Given the description of an element on the screen output the (x, y) to click on. 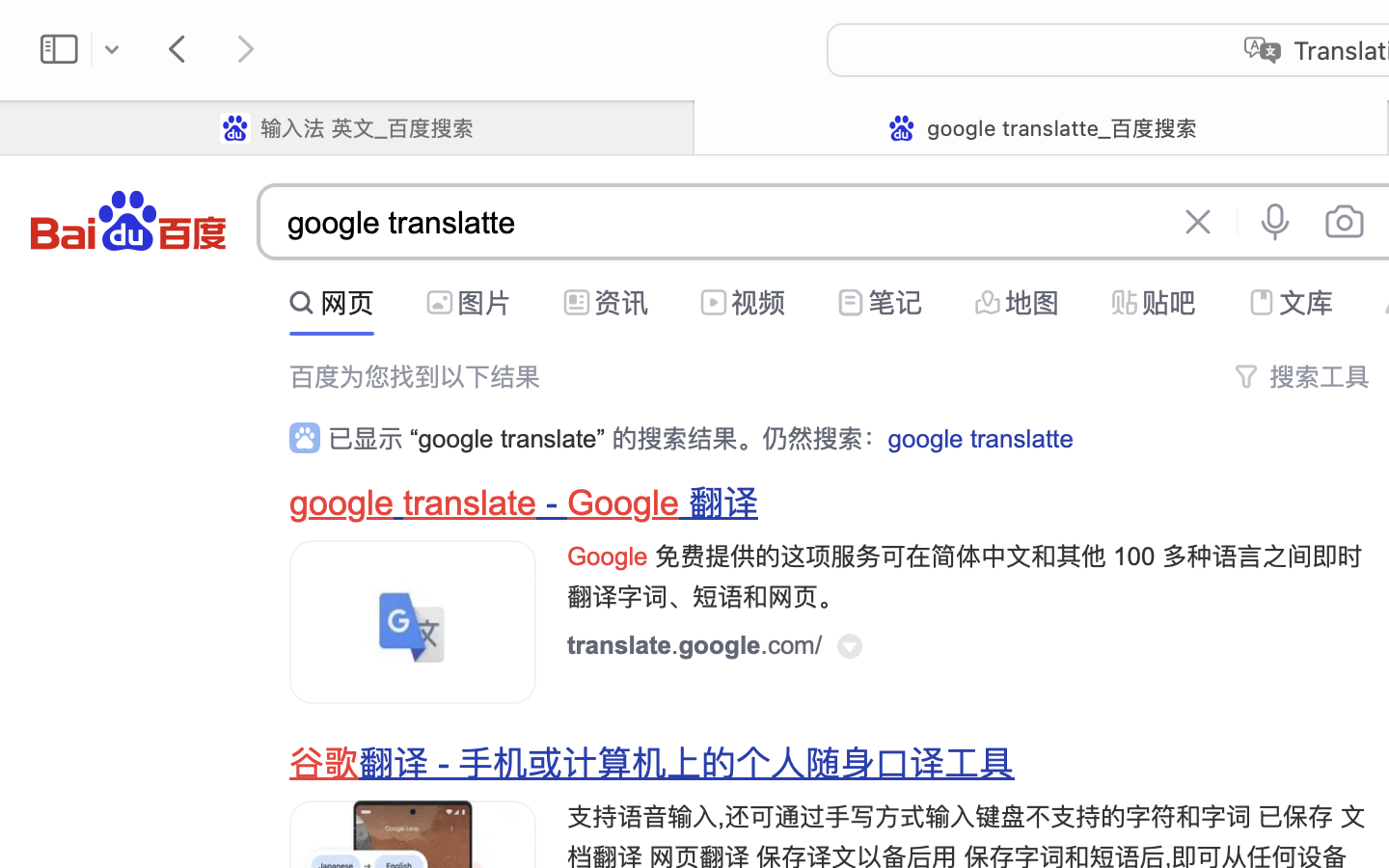
图片 Element type: AXStaticText (484, 302)
贴吧 Element type: AXStaticText (1169, 302)
免费提供的这项服务可在简体中文和其他 100 多种语言之间即时翻译字词、短语和网页。 Element type: AXStaticText (965, 576)
True Element type: AXRadioButton (1040, 127)
文库 Element type: AXStaticText (1306, 302)
